Given the description of an element on the screen output the (x, y) to click on. 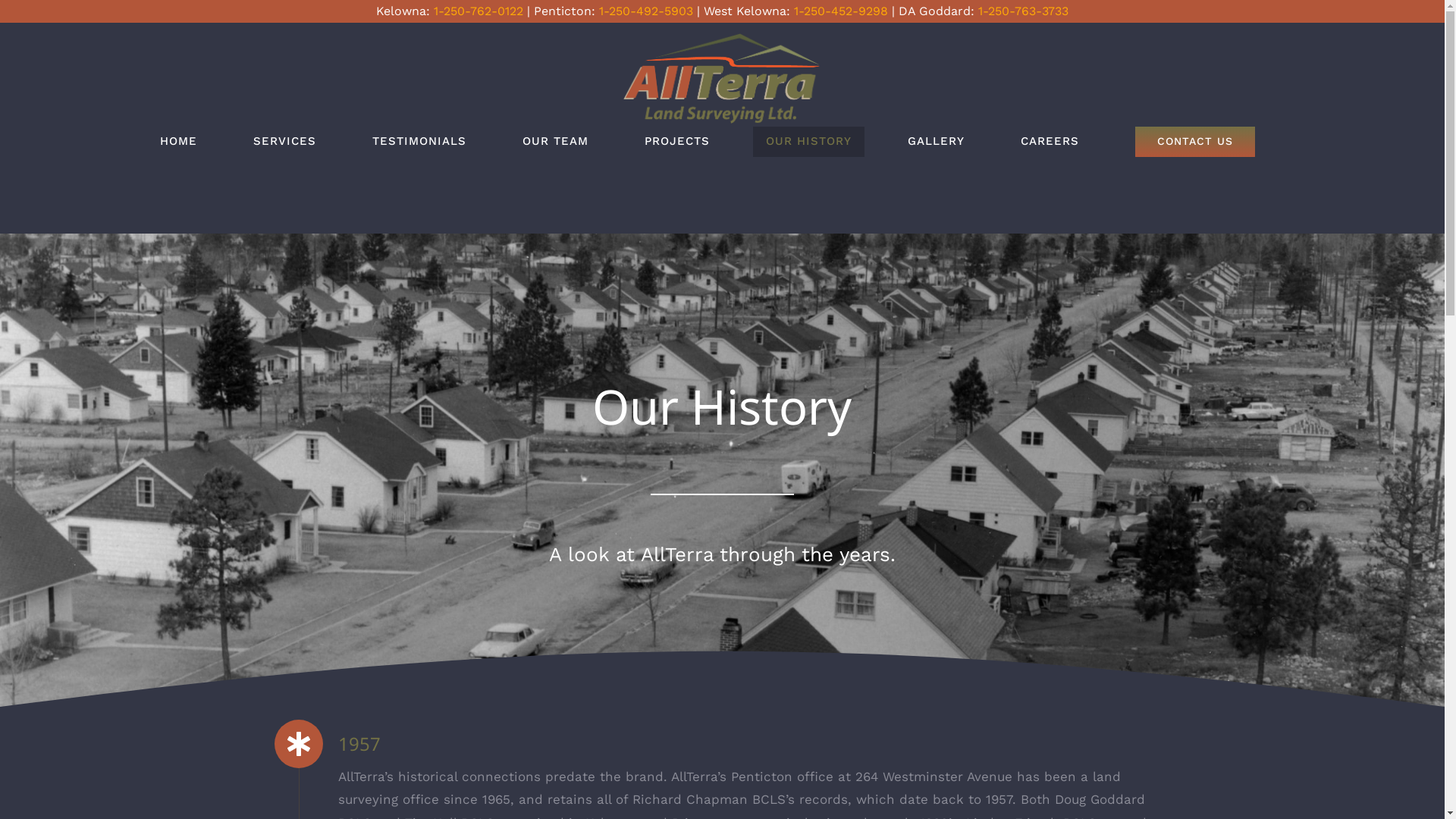
1-250-452-9298 Element type: text (840, 10)
OUR HISTORY Element type: text (807, 141)
OUR TEAM Element type: text (555, 141)
CAREERS Element type: text (1049, 141)
1-250-762-0122 Element type: text (478, 10)
1-250-763-3733 Element type: text (1023, 10)
SERVICES Element type: text (283, 141)
TESTIMONIALS Element type: text (419, 141)
HOME Element type: text (178, 141)
PROJECTS Element type: text (675, 141)
CONTACT US Element type: text (1194, 141)
1-250-492-5903 Element type: text (646, 10)
GALLERY Element type: text (935, 141)
